Given the description of an element on the screen output the (x, y) to click on. 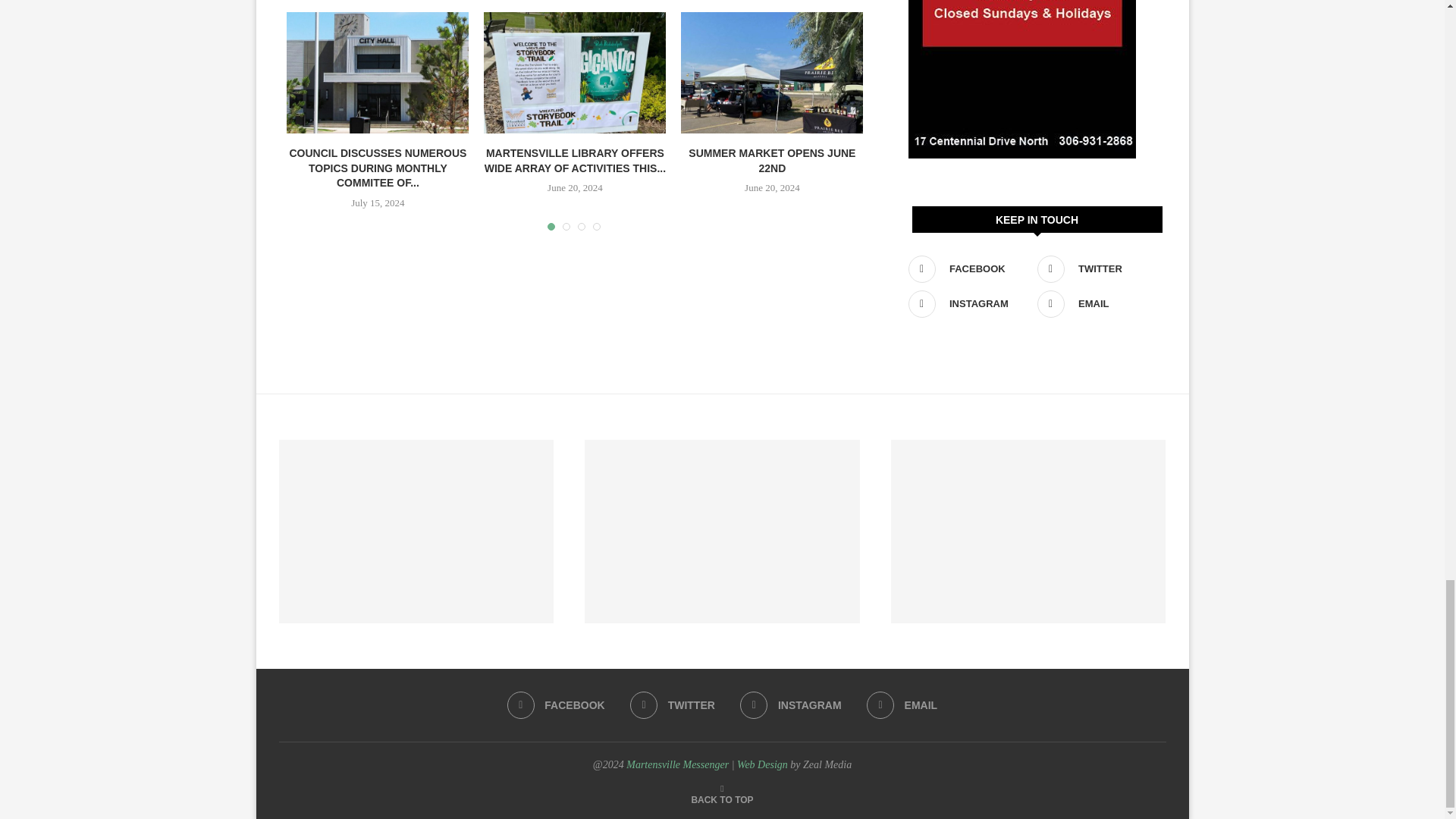
Summer Market Opens June 22nd (772, 72)
